Given the description of an element on the screen output the (x, y) to click on. 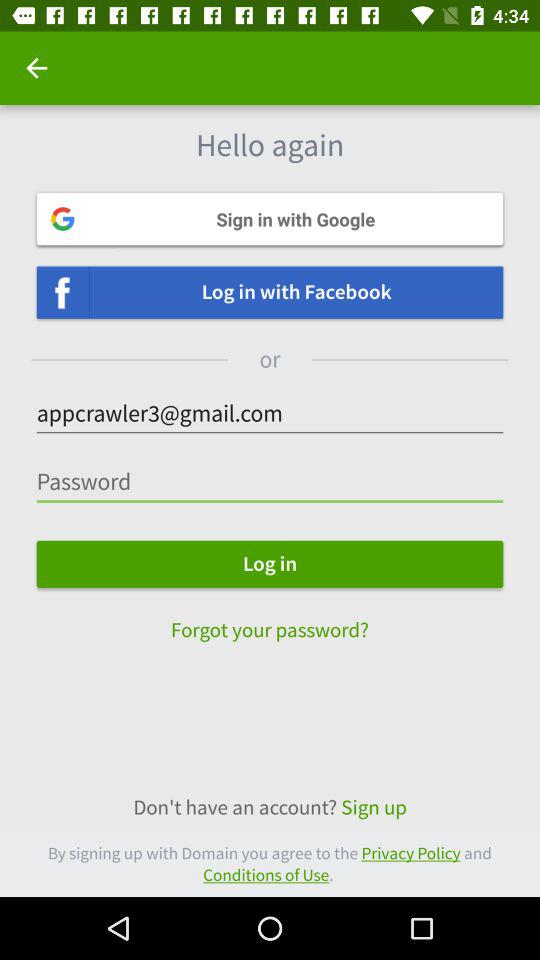
flip to the by signing up icon (270, 864)
